Given the description of an element on the screen output the (x, y) to click on. 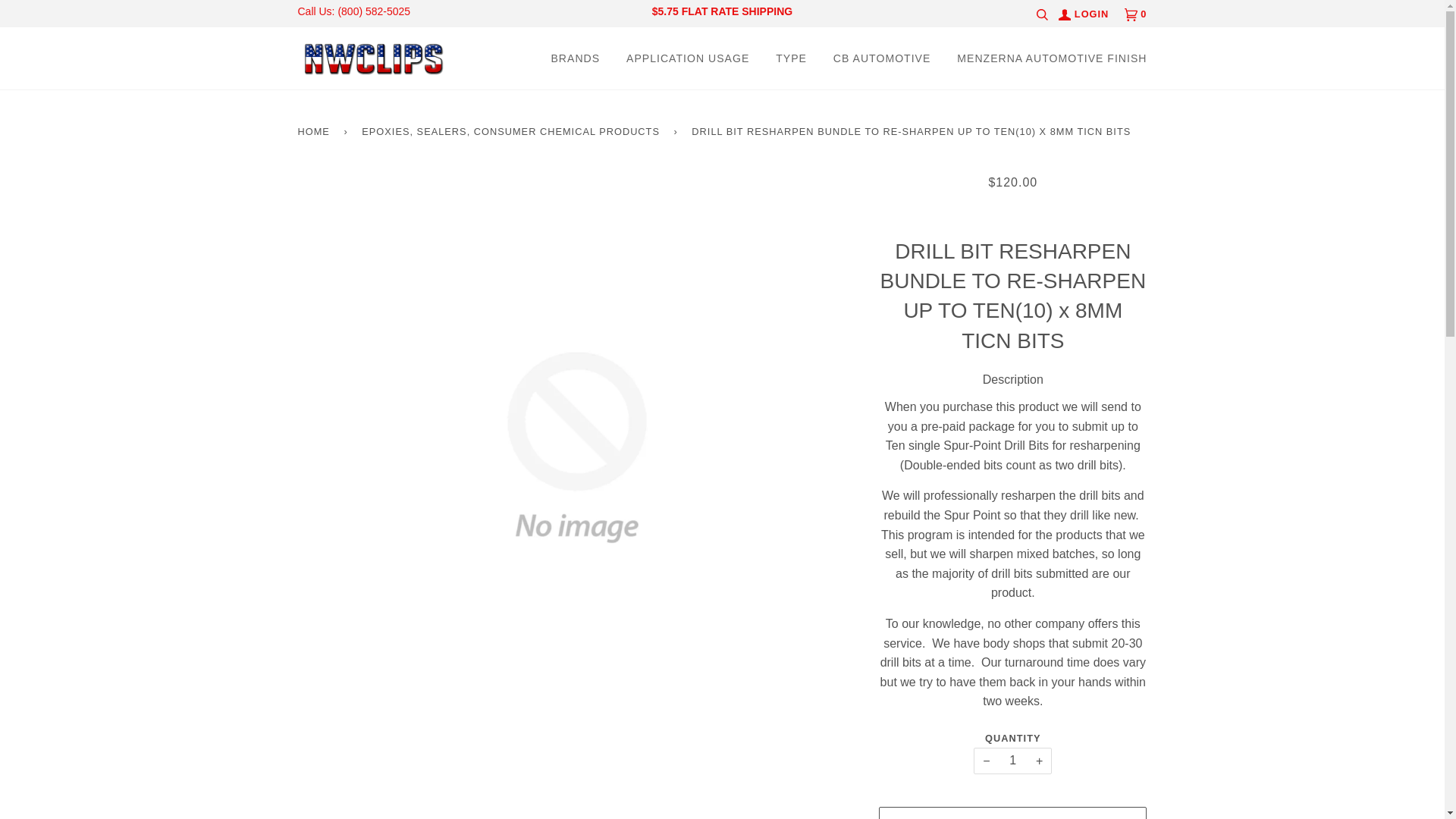
LOGIN (1083, 13)
BRANDS (574, 58)
0 (1135, 14)
1 (1012, 760)
APPLICATION USAGE (687, 58)
Back to the frontpage (315, 131)
